Given the description of an element on the screen output the (x, y) to click on. 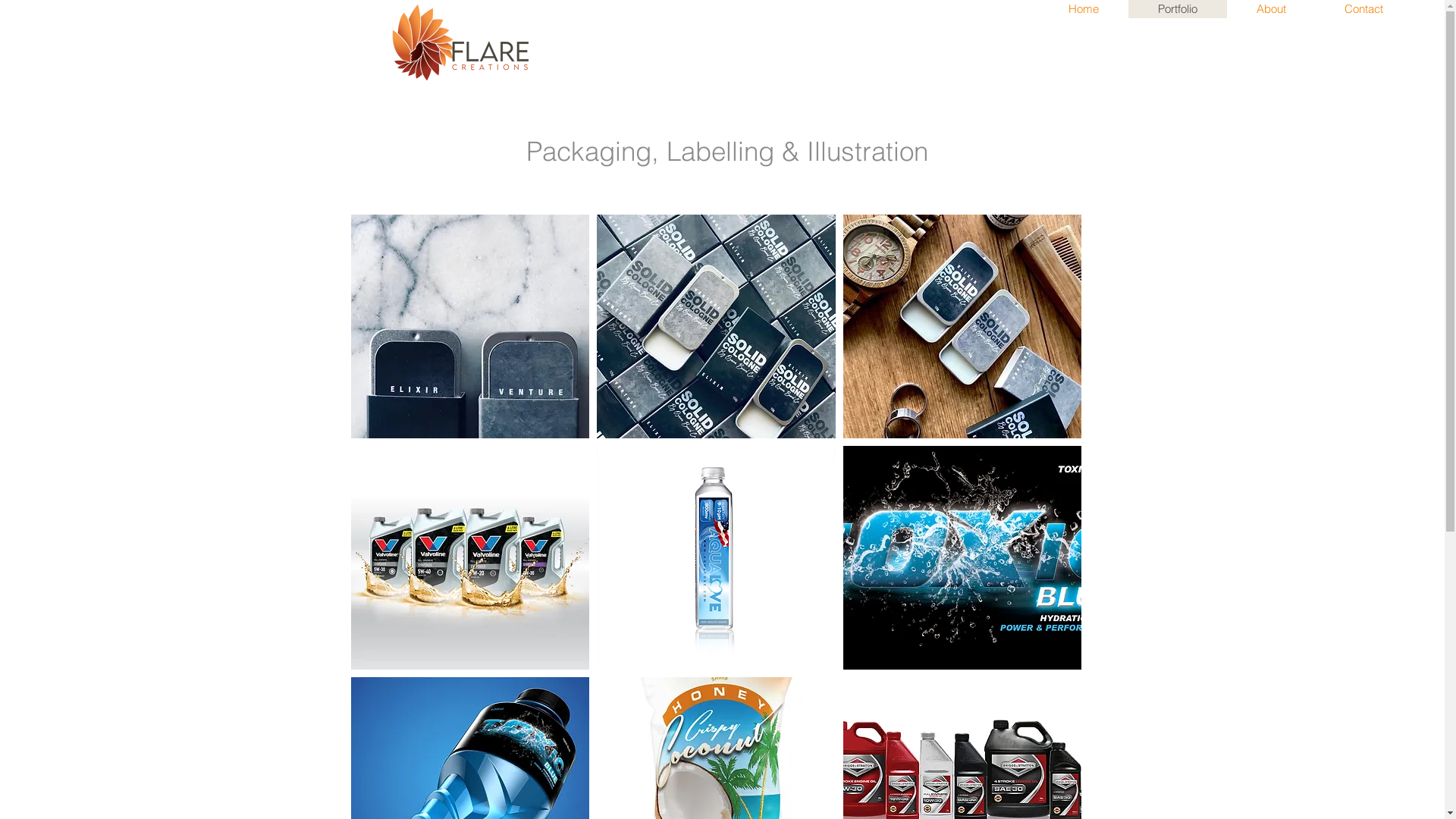
Portfolio Element type: text (1177, 9)
Contact Element type: text (1363, 9)
Home Element type: text (1082, 9)
About Element type: text (1270, 9)
